Given the description of an element on the screen output the (x, y) to click on. 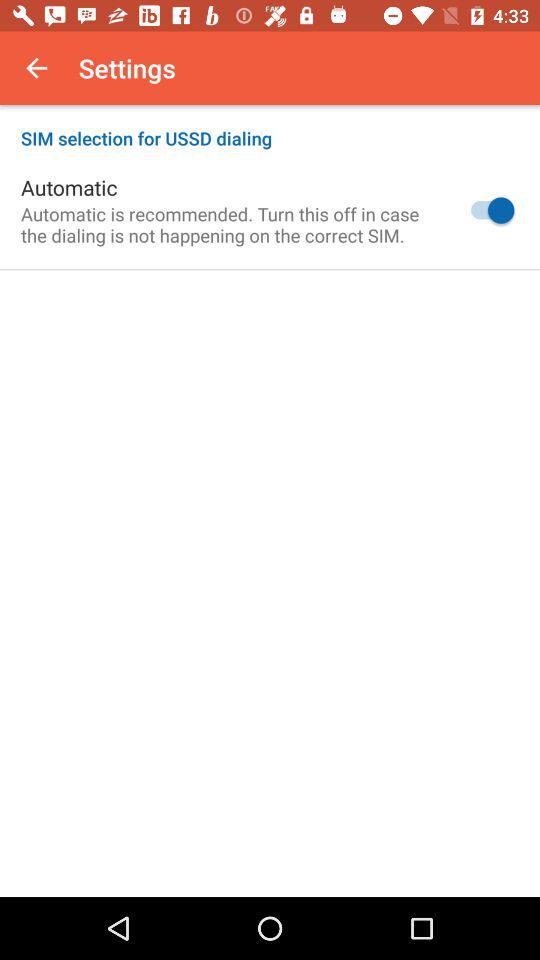
scroll until the automatic is recommended item (228, 224)
